Given the description of an element on the screen output the (x, y) to click on. 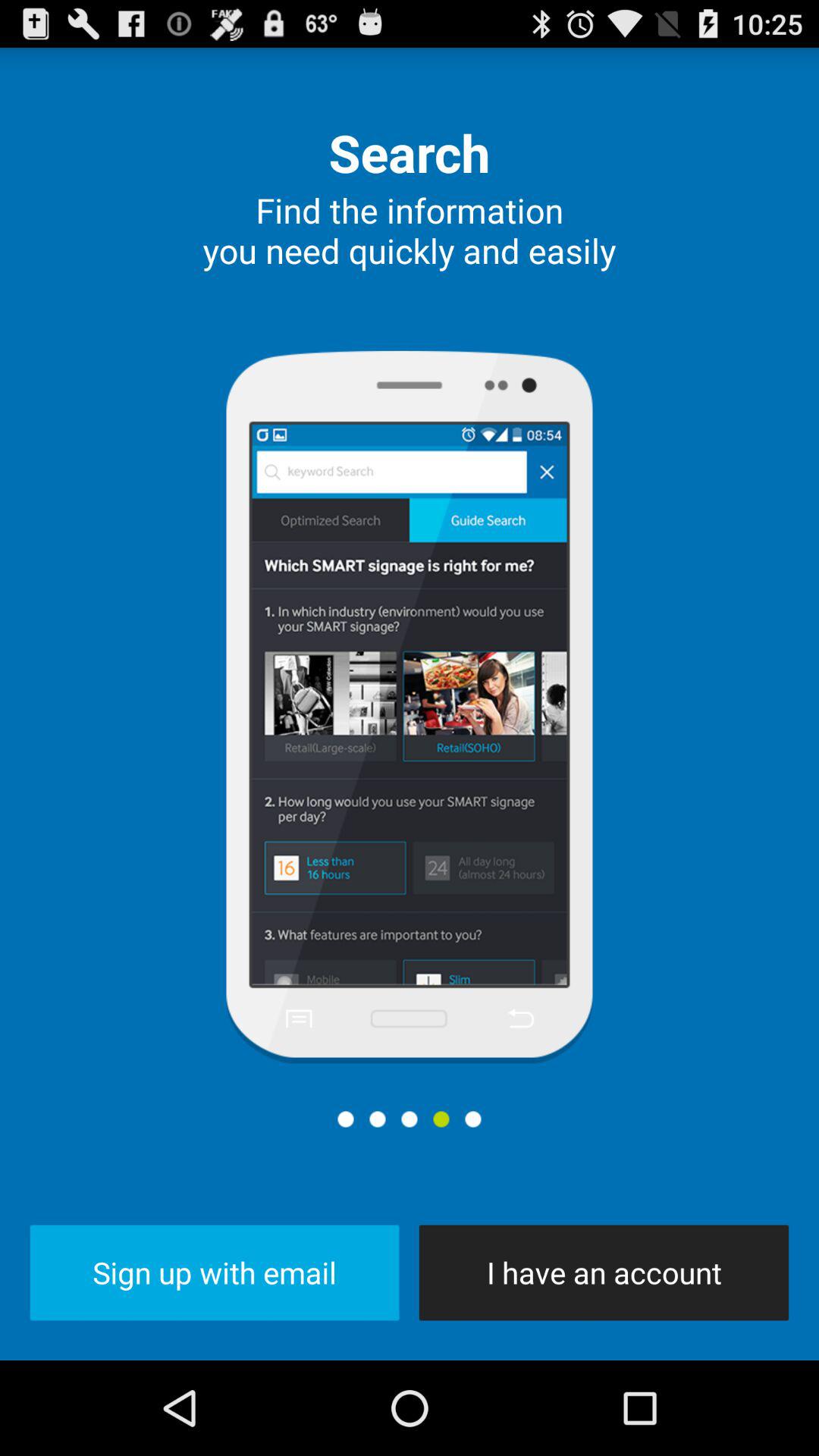
scroll until i have an (603, 1272)
